Given the description of an element on the screen output the (x, y) to click on. 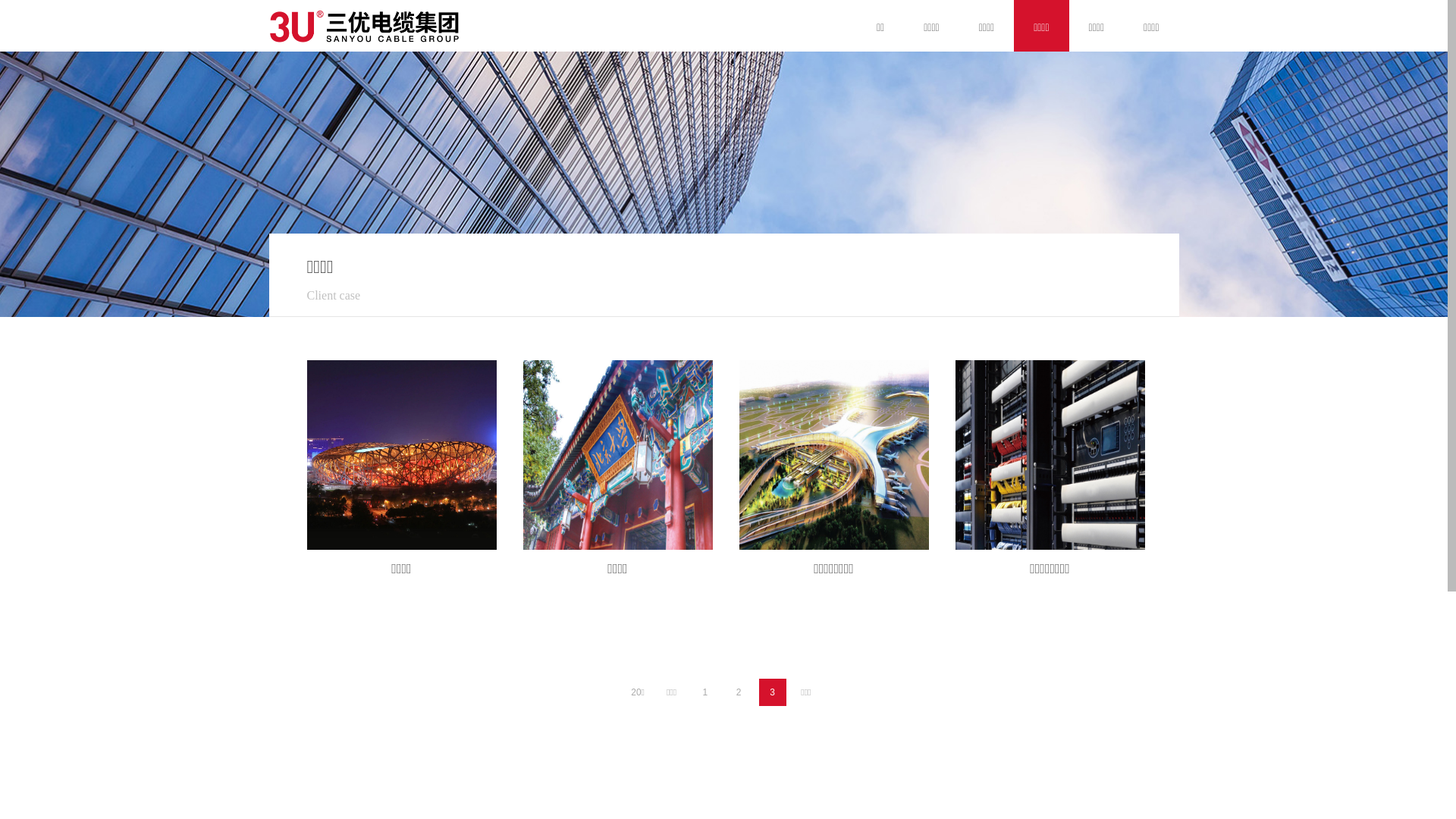
2 Element type: text (738, 692)
1 Element type: text (704, 692)
